Given the description of an element on the screen output the (x, y) to click on. 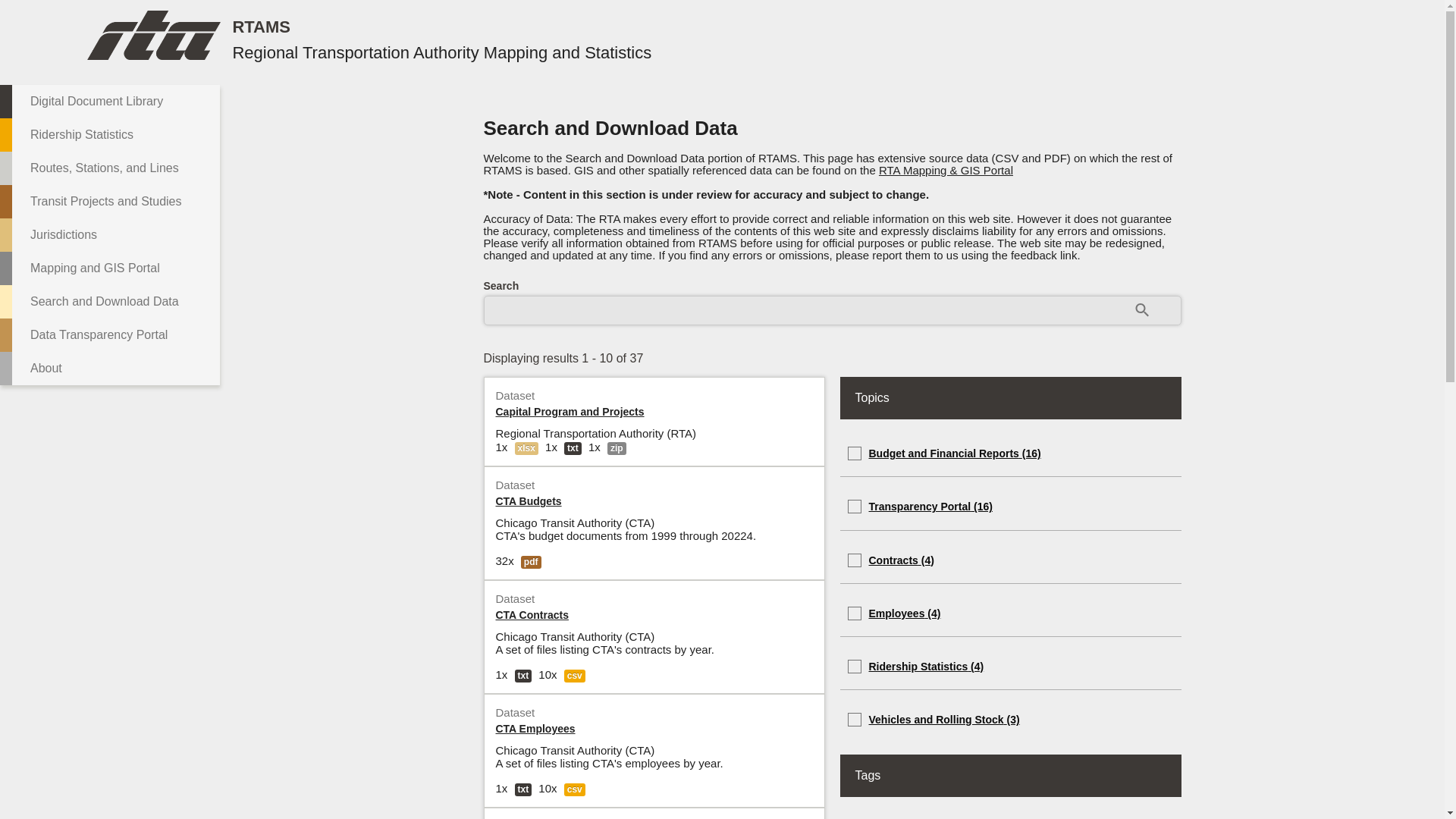
About (109, 368)
Search (1141, 309)
Ridership Statistics (109, 134)
Mapping and GIS Portal (109, 268)
CTA Contracts (532, 614)
Search and Download Data (109, 301)
RTAMS (260, 25)
Search (1141, 309)
CTA Employees (535, 728)
